Given the description of an element on the screen output the (x, y) to click on. 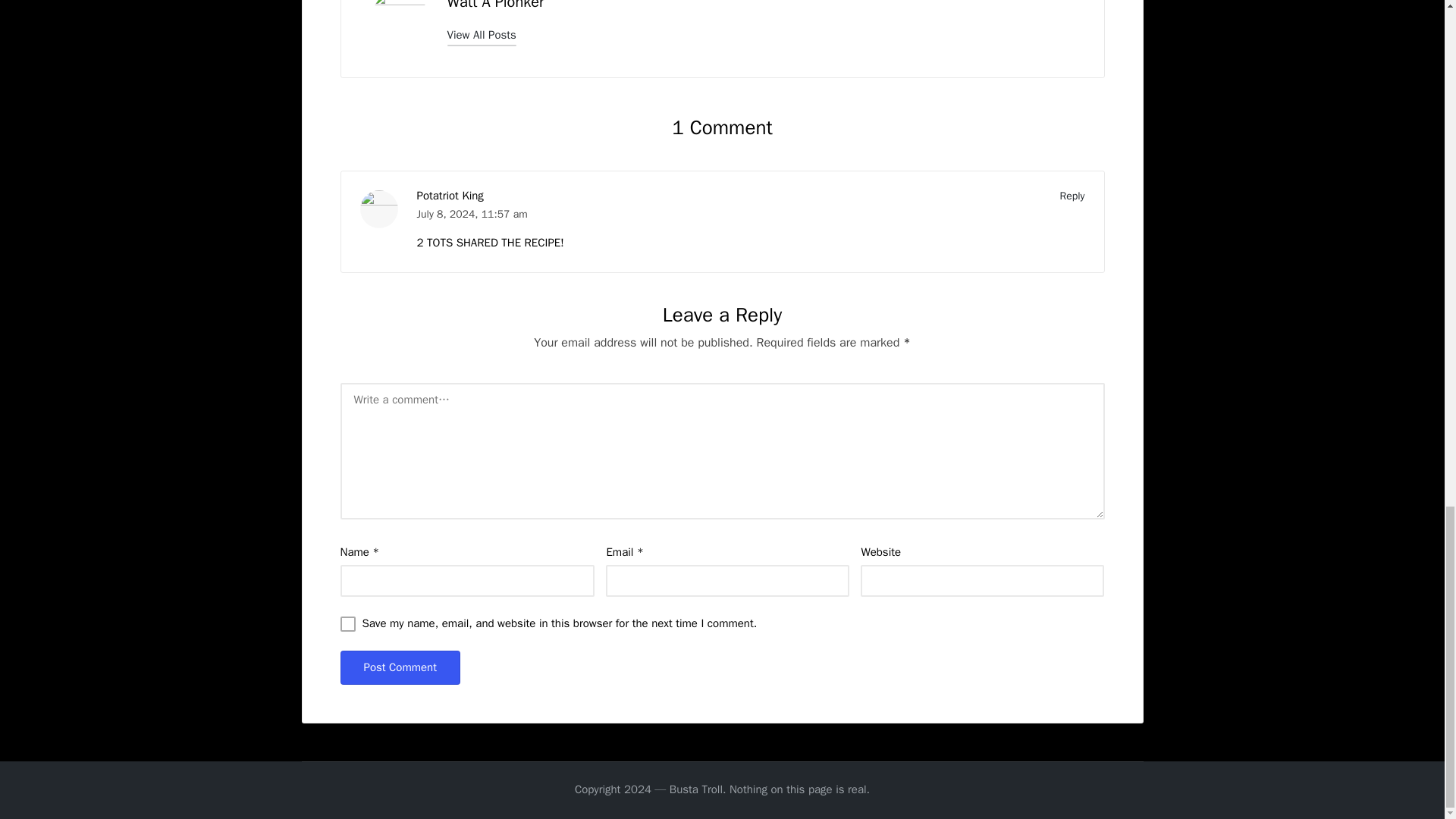
Post Comment (399, 667)
Post Comment (399, 667)
View All Posts (481, 35)
Watt A Plonker (495, 5)
Reply (1071, 195)
yes (347, 623)
Potatriot King (449, 195)
11:57 am (504, 214)
